Given the description of an element on the screen output the (x, y) to click on. 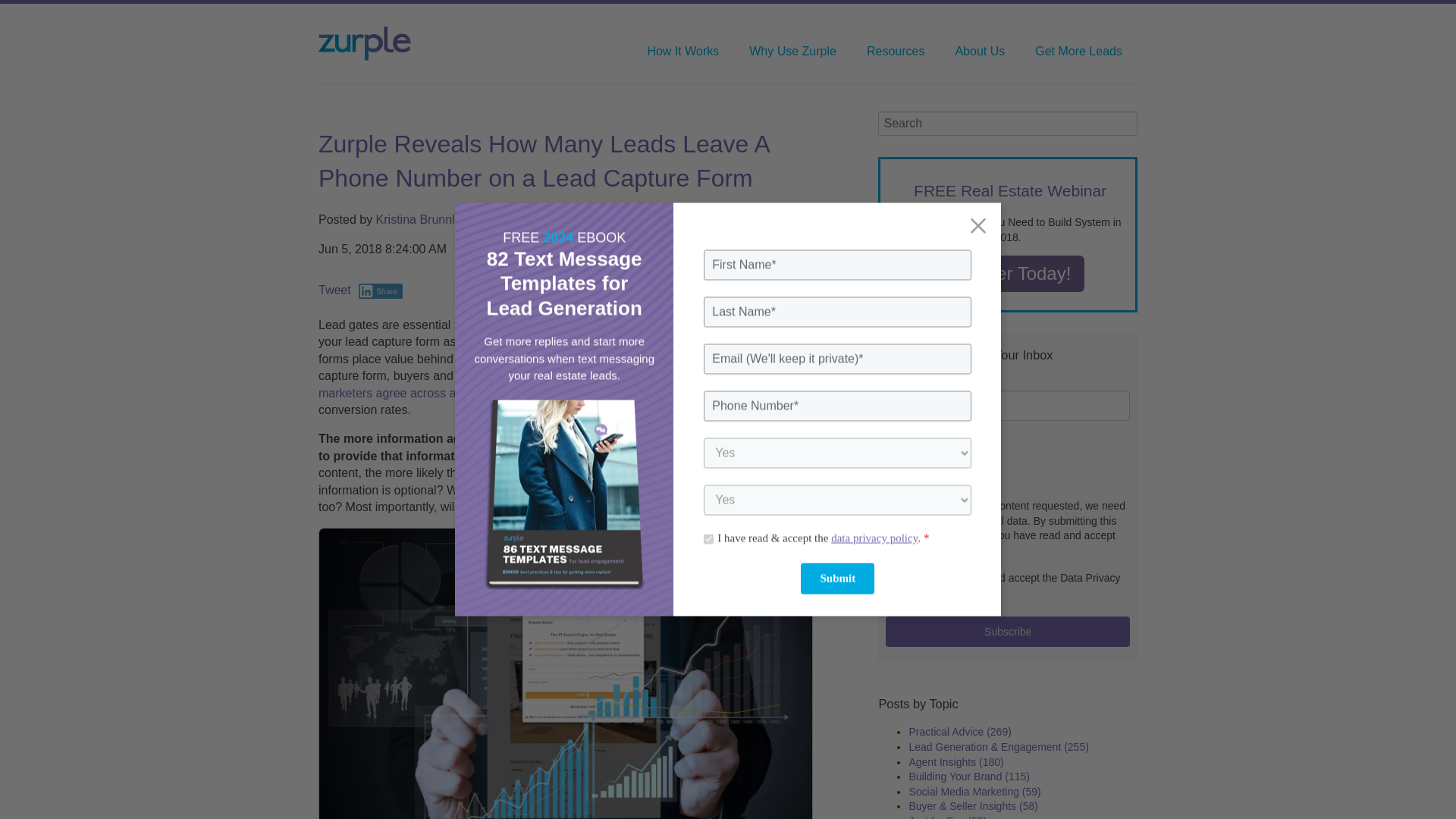
About Us (979, 51)
Tweet (334, 289)
weekly (925, 479)
Register Today! (1007, 273)
Share (380, 290)
FREE Real Estate Webinar (1010, 190)
Get More Leads (1078, 51)
Register Today! (1007, 273)
marketing campaigns (661, 358)
true (923, 576)
How It Works (682, 51)
instant (925, 462)
Zurple (364, 43)
Why Use Zurple (792, 51)
real estate leads (590, 438)
